Given the description of an element on the screen output the (x, y) to click on. 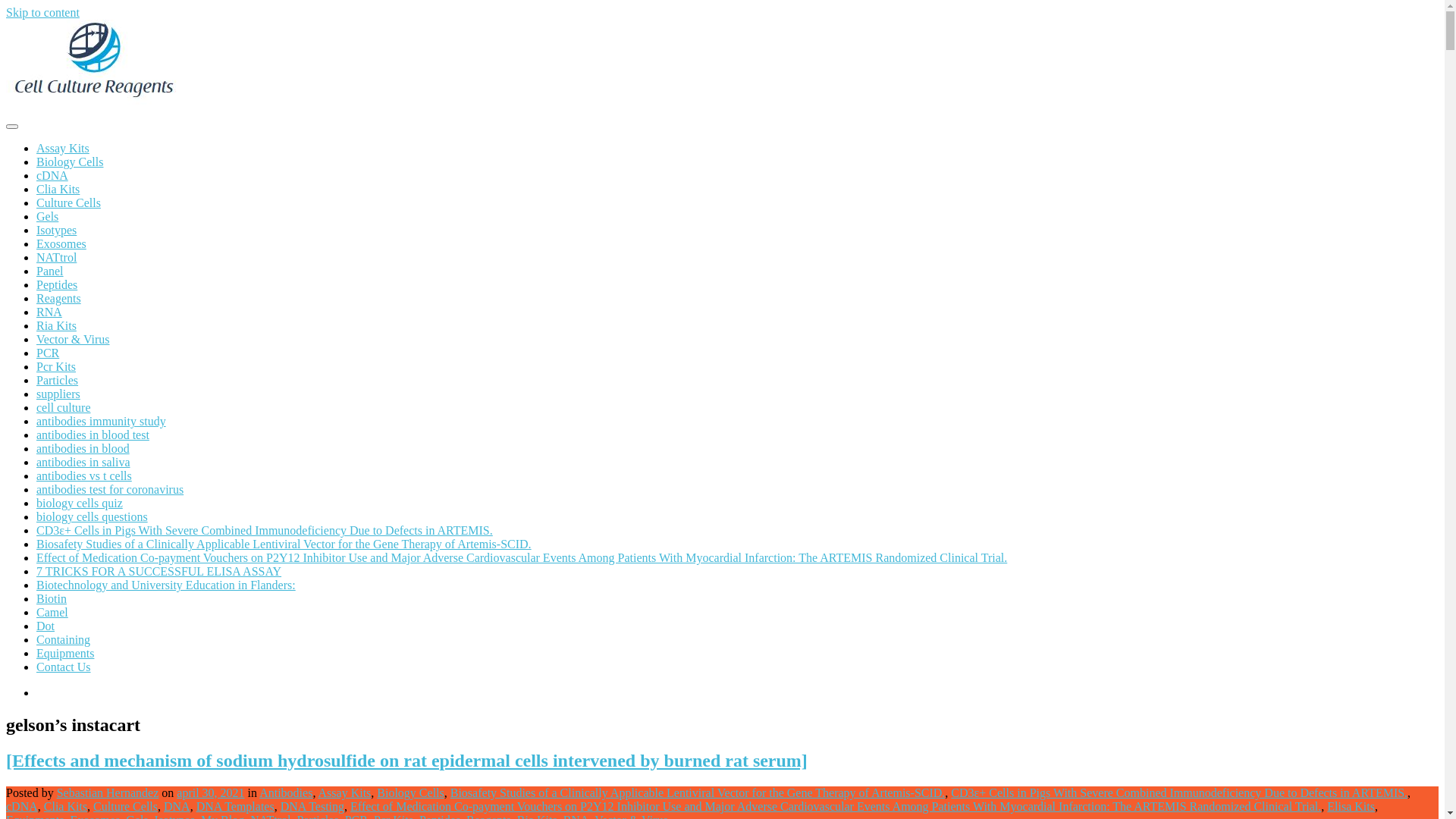
DNA Templates Element type: text (235, 806)
Assay Kits Element type: text (62, 147)
7 TRICKS FOR A SUCCESSFUL ELISA ASSAY Element type: text (158, 570)
Exosomes Element type: text (61, 243)
RNA Element type: text (49, 311)
cDNA Element type: text (52, 175)
Isotypes Element type: text (56, 229)
Vector & Virus Element type: text (72, 338)
Pcr Kits Element type: text (55, 366)
Clia Kits Element type: text (57, 188)
Culture Cells Element type: text (125, 806)
antibodies immunity study Element type: text (101, 420)
Biology Cells Element type: text (409, 792)
Peptides Element type: text (56, 284)
antibodies test for coronavirus Element type: text (109, 489)
Cell Culture Reagents Element type: text (59, 134)
Equipments Element type: text (65, 652)
Gels Element type: text (47, 216)
cDNA Element type: text (21, 806)
antibodies in blood test Element type: text (92, 434)
Biotin Element type: text (51, 598)
DNA Testing Element type: text (312, 806)
Reagents Element type: text (58, 297)
cell culture Element type: text (63, 407)
Biotechnology and University Education in Flanders: Element type: text (165, 584)
Skip to content Element type: text (42, 12)
Clia Kits Element type: text (65, 806)
april 30, 2021 Element type: text (210, 792)
PCR Element type: text (47, 352)
biology cells quiz Element type: text (79, 502)
Antibodies Element type: text (285, 792)
Ria Kits Element type: text (56, 325)
Panel Element type: text (49, 270)
Biology Cells Element type: text (69, 161)
Elisa Kits Element type: text (1350, 806)
Dot Element type: text (45, 625)
Contact Us Element type: text (63, 666)
Sebastian Hernandez Element type: text (107, 792)
suppliers Element type: text (58, 393)
Camel Element type: text (52, 611)
antibodies in blood Element type: text (82, 448)
Particles Element type: text (57, 379)
NATtrol Element type: text (56, 257)
antibodies in saliva Element type: text (83, 461)
Containing Element type: text (63, 639)
Assay Kits Element type: text (344, 792)
Culture Cells Element type: text (68, 202)
antibodies vs t cells Element type: text (83, 475)
DNA Element type: text (176, 806)
biology cells questions Element type: text (91, 516)
